Given the description of an element on the screen output the (x, y) to click on. 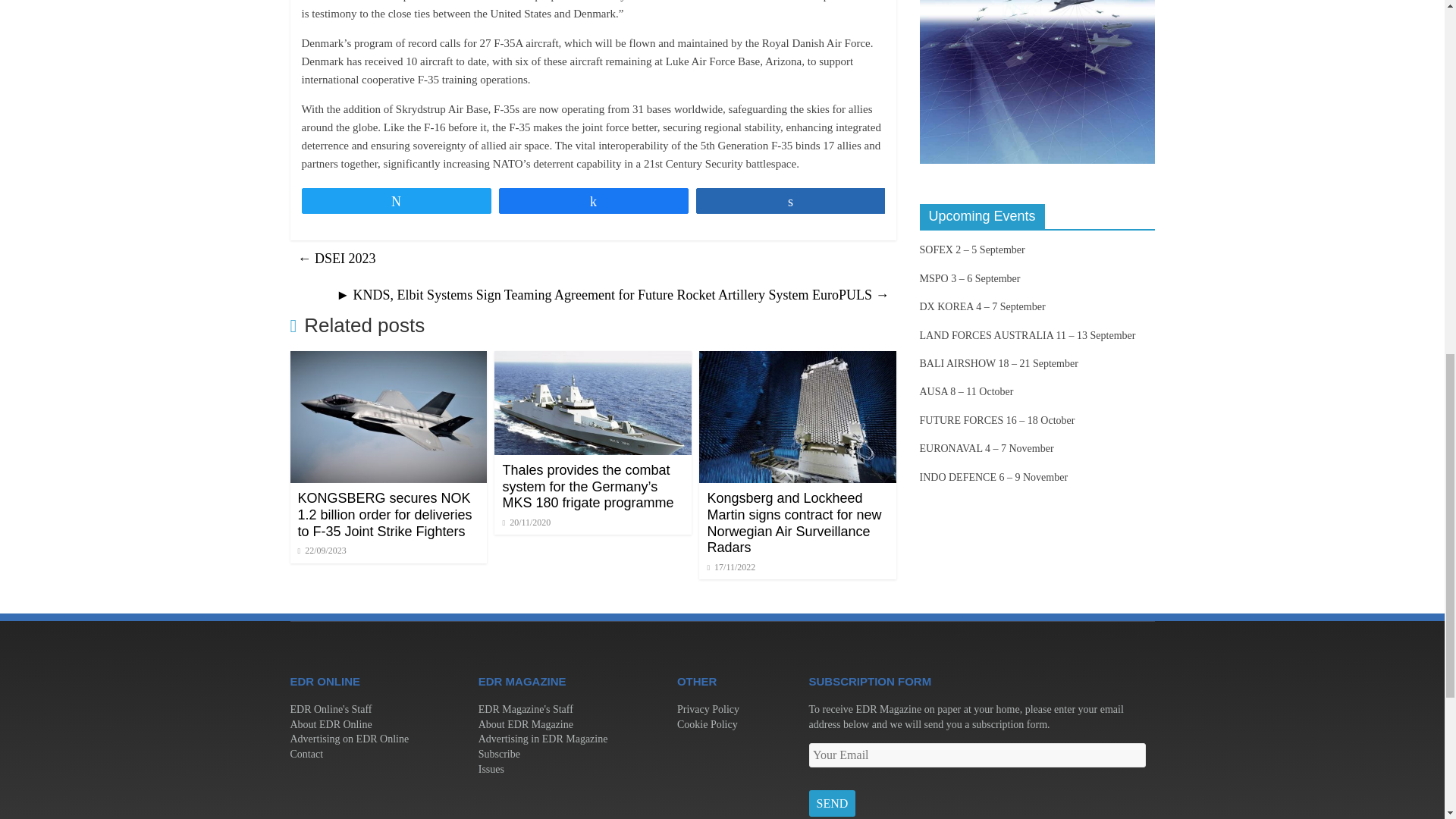
SEND (832, 803)
19:45 (321, 550)
